Given the description of an element on the screen output the (x, y) to click on. 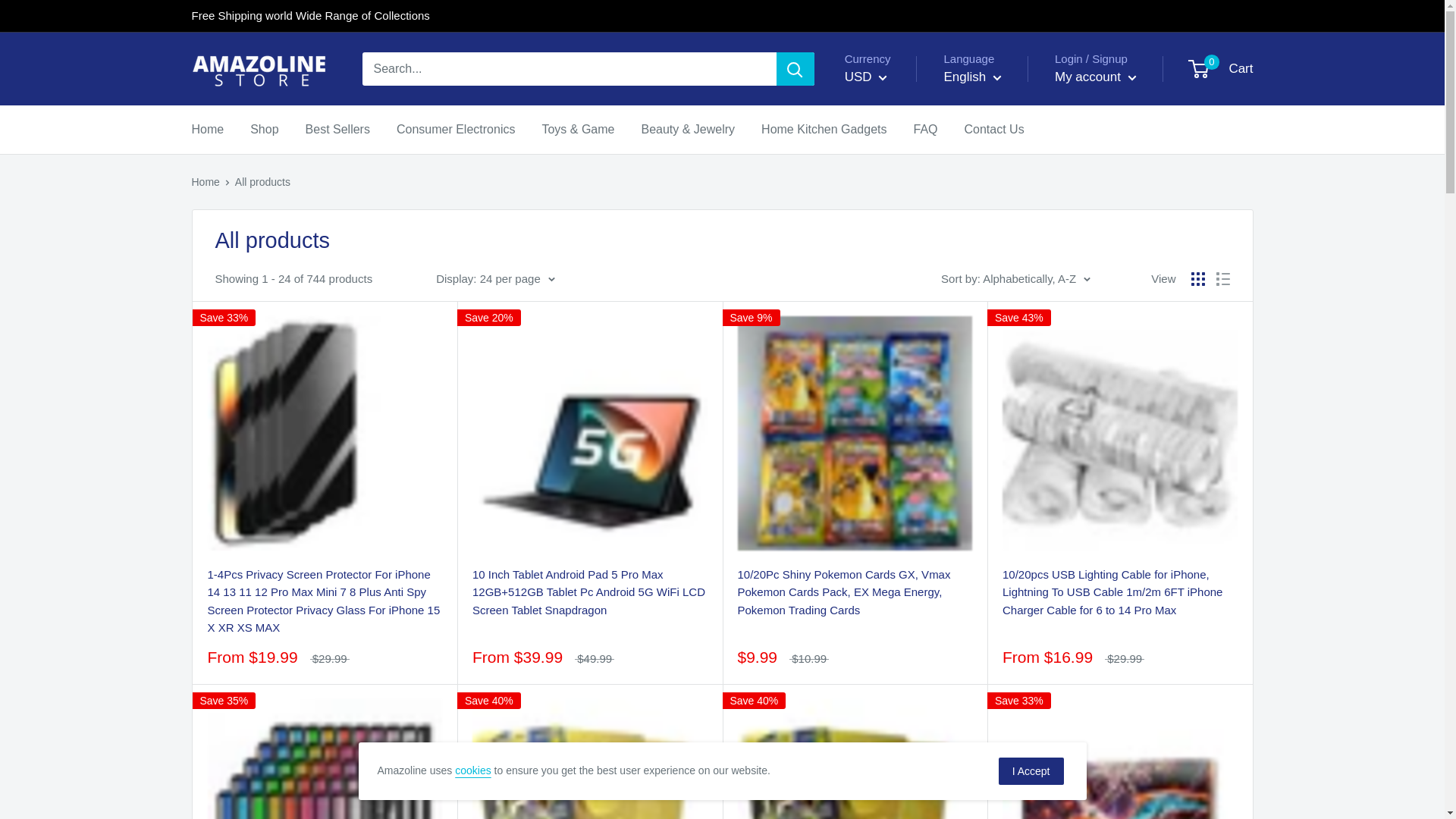
Privacy Policy (472, 770)
English (972, 77)
CAD (877, 118)
USD (877, 141)
USD (866, 77)
Free Shipping world Wide Range of Collections (309, 15)
